Given the description of an element on the screen output the (x, y) to click on. 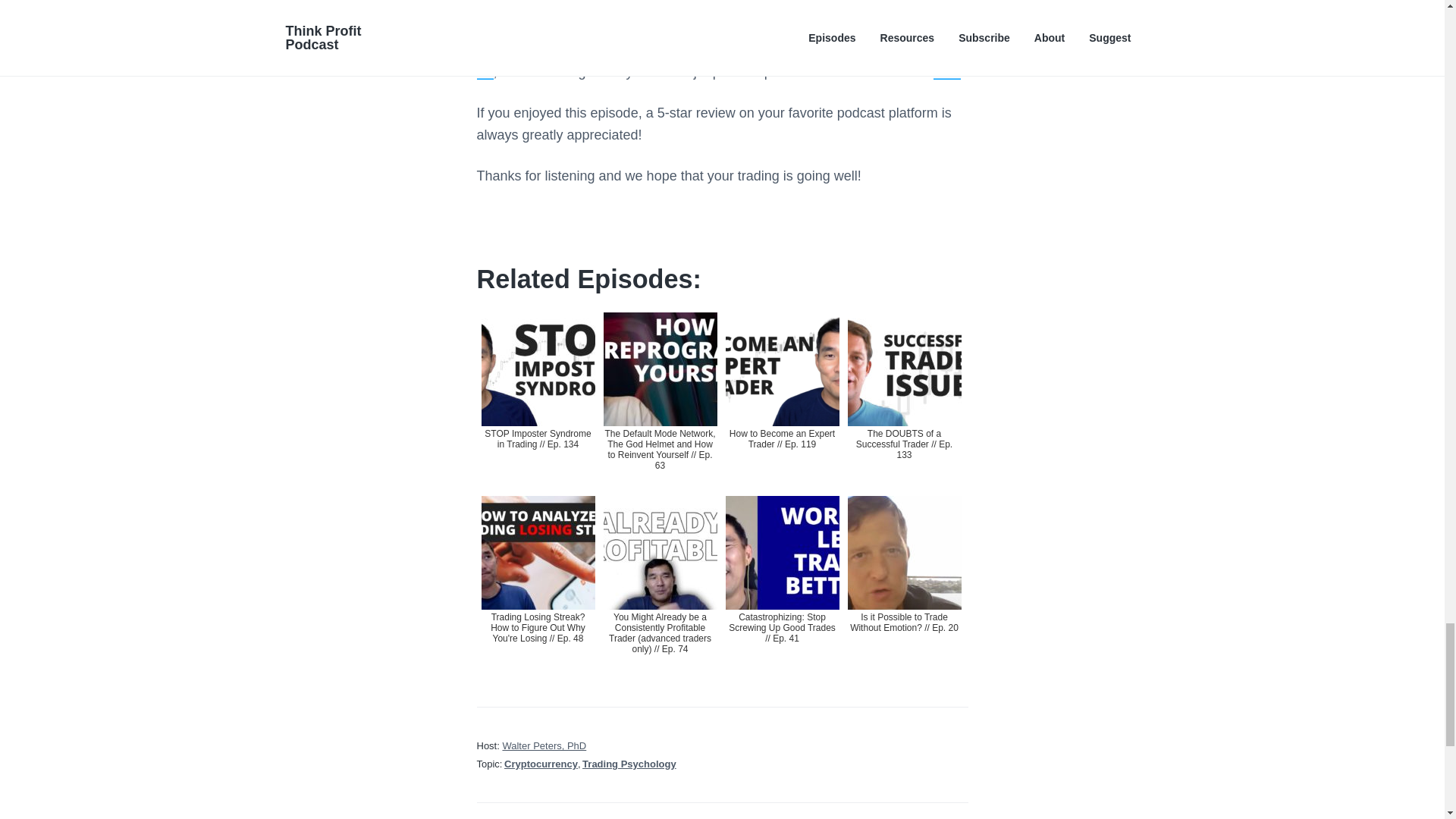
Walter Peters, PhD (544, 745)
Cryptocurrency (540, 763)
email list (714, 60)
Trading Psychology (629, 763)
here (946, 71)
